Given the description of an element on the screen output the (x, y) to click on. 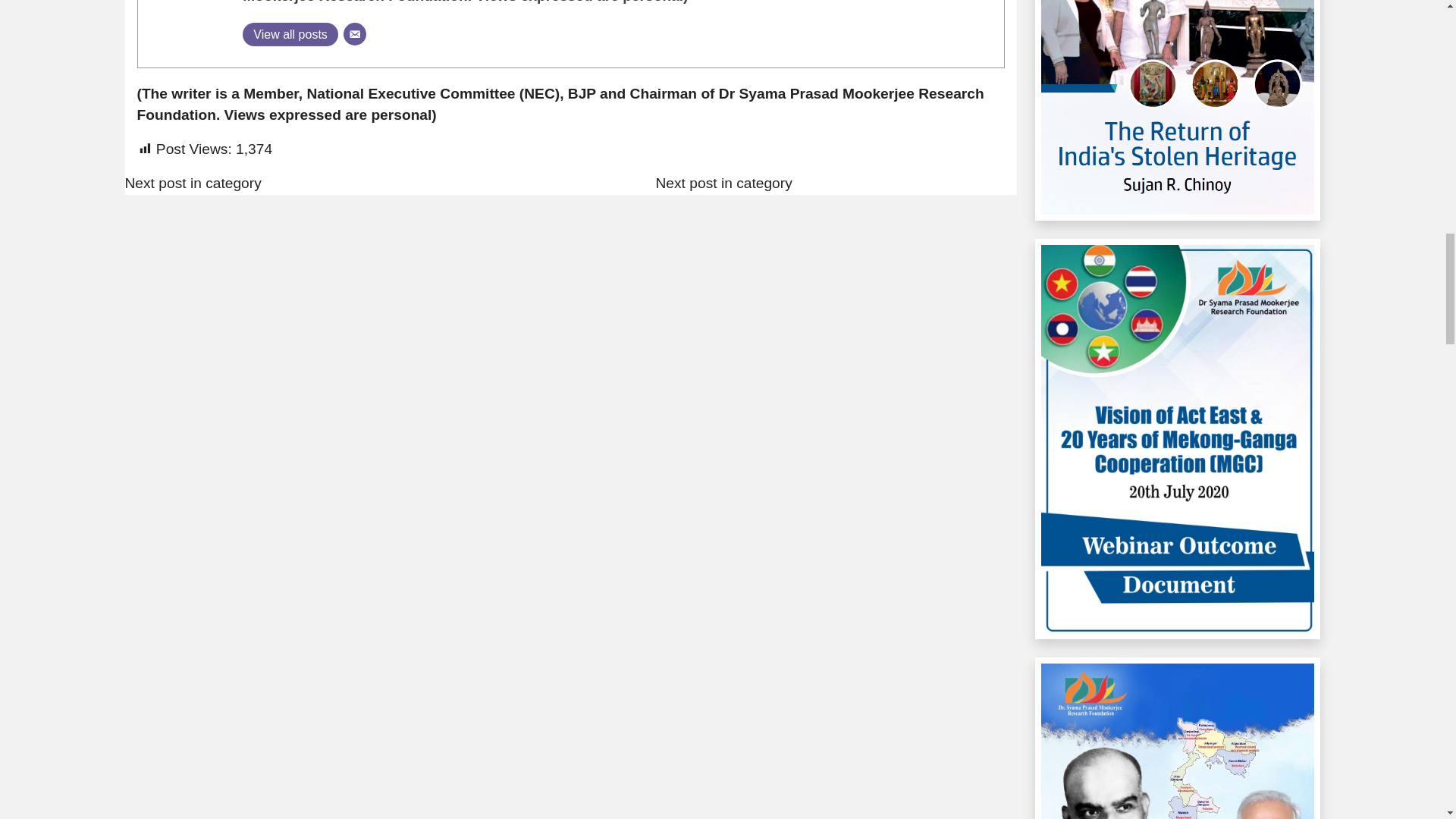
View all posts (290, 33)
